Given the description of an element on the screen output the (x, y) to click on. 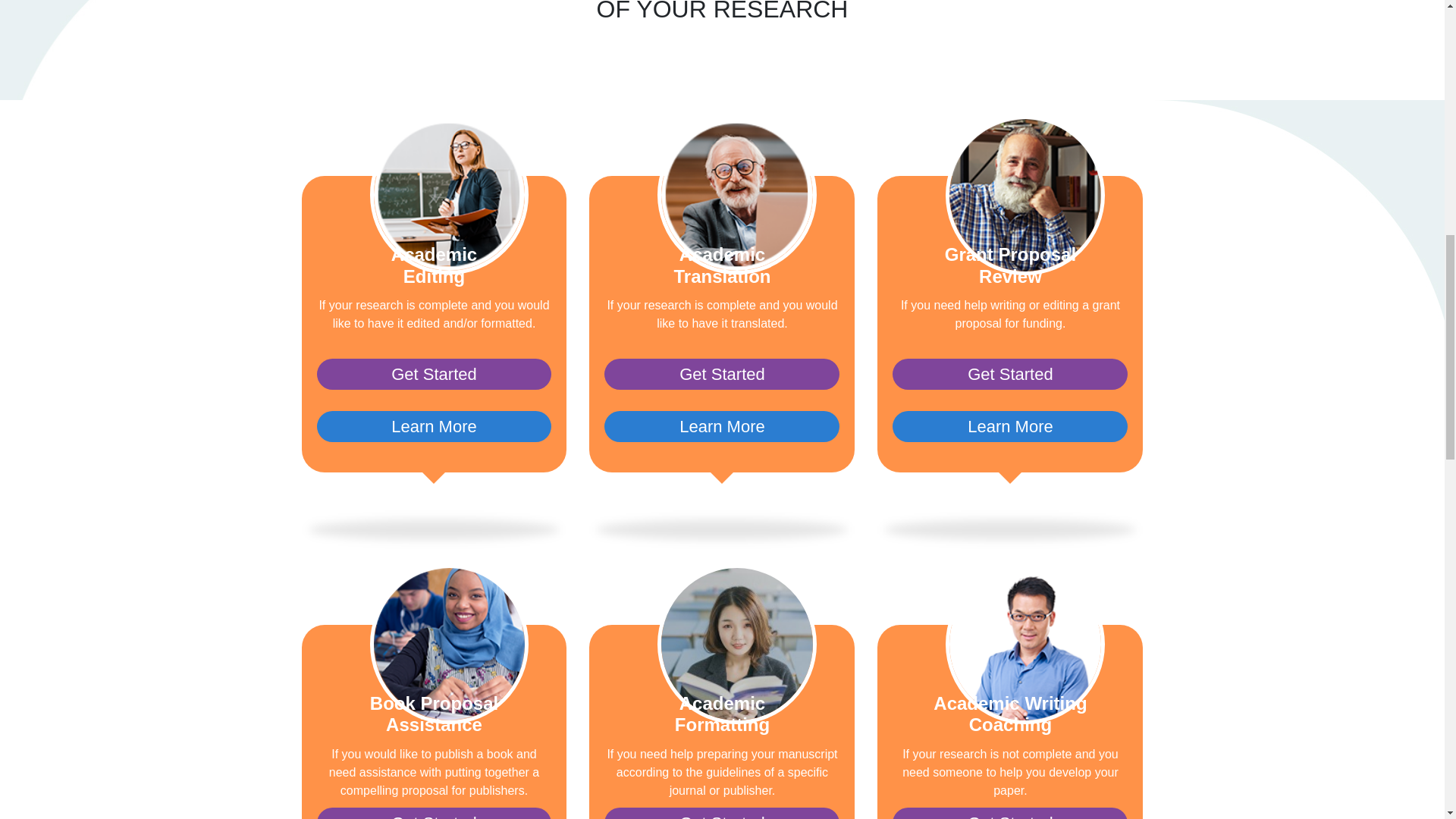
Get Started (434, 813)
Learn More (434, 426)
Learn More (722, 426)
Get Started (722, 373)
Get Started (1009, 373)
Get Started (1009, 813)
Get Started (722, 813)
Learn More (1009, 426)
Get Started (434, 373)
